Given the description of an element on the screen output the (x, y) to click on. 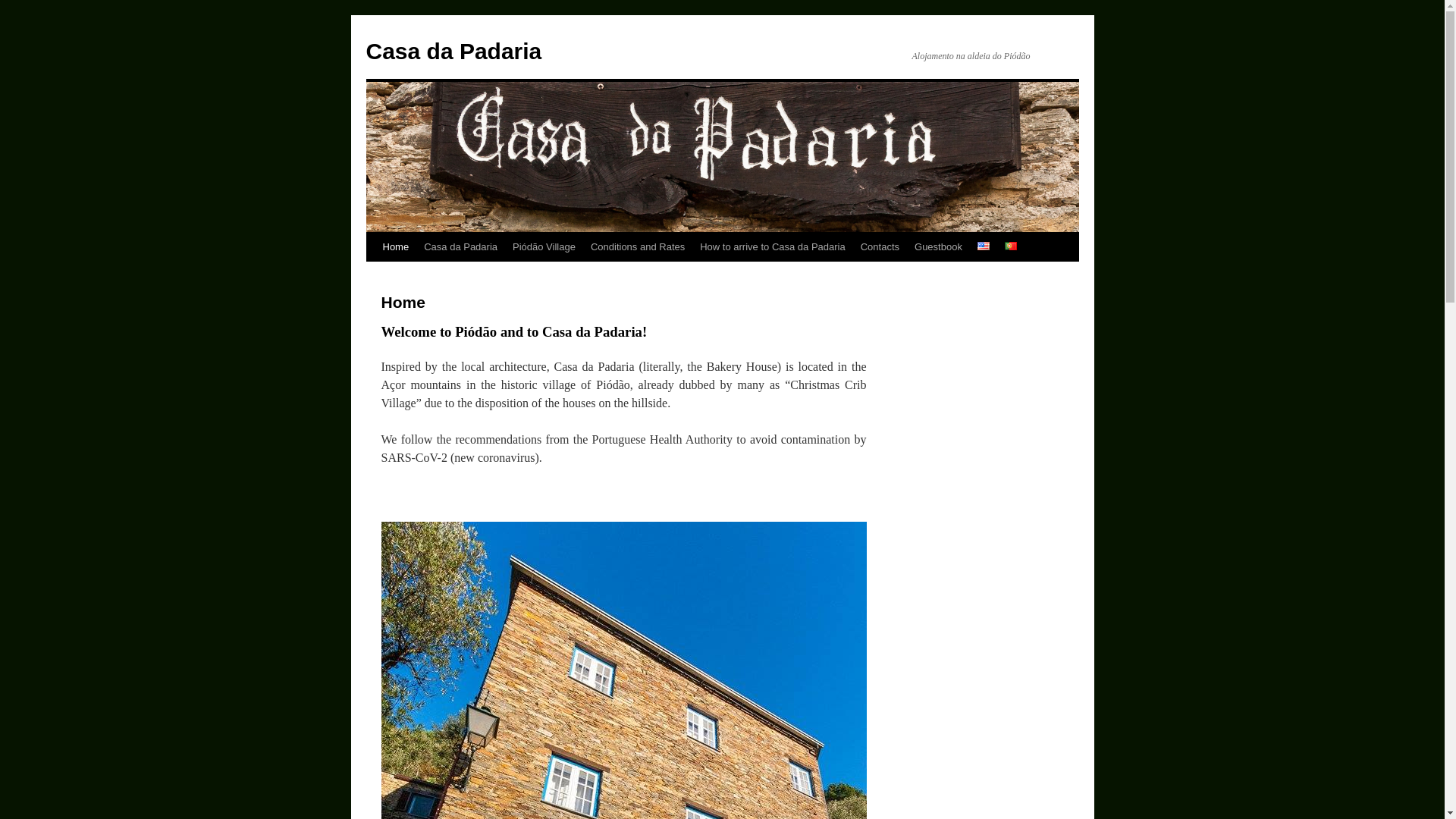
English (983, 245)
Casa da Padaria (460, 246)
Casa da Padaria (453, 50)
Casa da Padaria (453, 50)
Home (395, 246)
Guestbook (938, 246)
Contacts (880, 246)
How to arrive to Casa da Padaria (772, 246)
Conditions and Rates (638, 246)
